Given the description of an element on the screen output the (x, y) to click on. 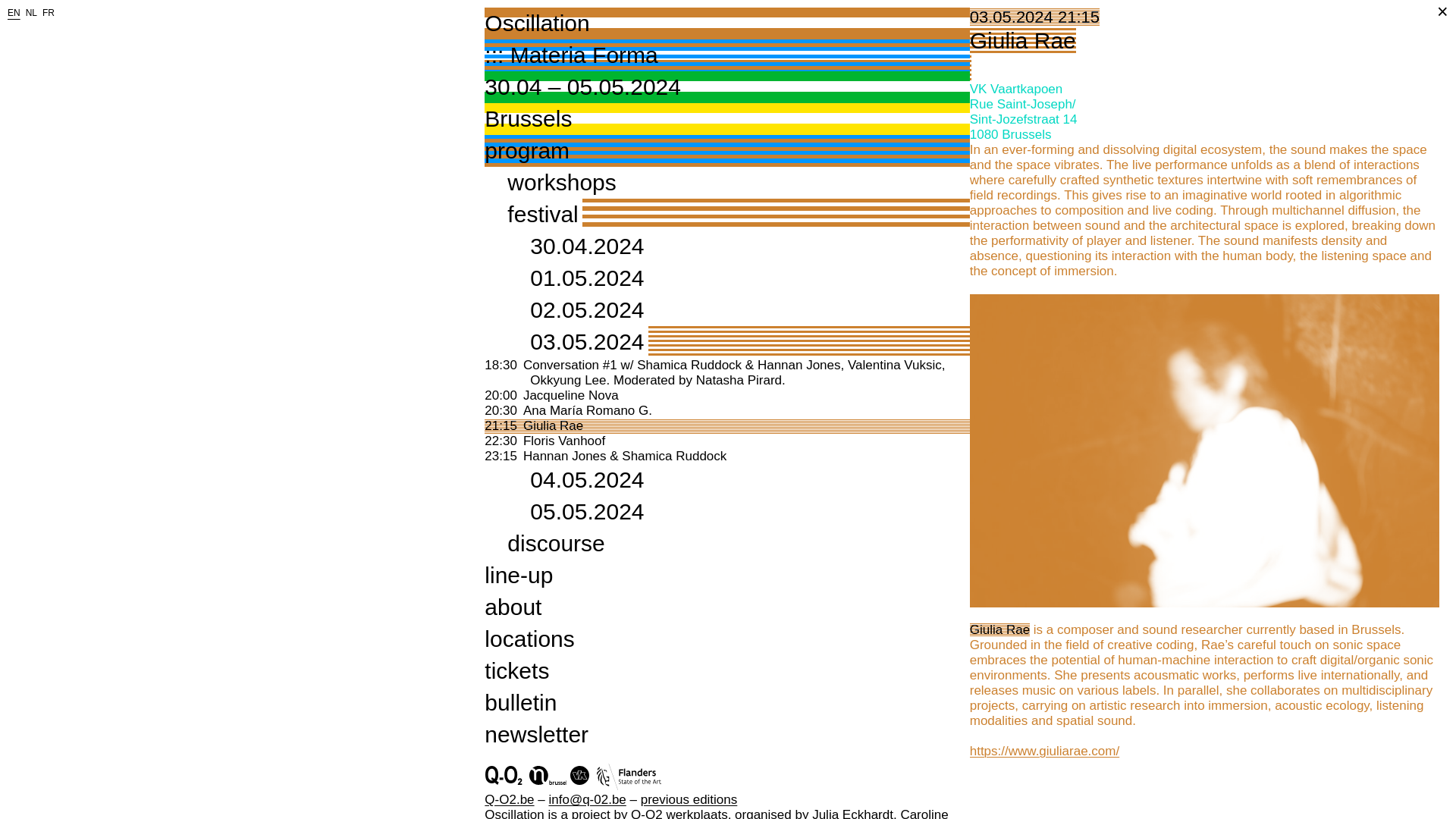
FR (48, 12)
Giulia Rae (726, 39)
Jacqueline Nova (552, 425)
EN (570, 395)
NL (13, 12)
discourse (31, 12)
Floris Vanhoof (555, 543)
